Given the description of an element on the screen output the (x, y) to click on. 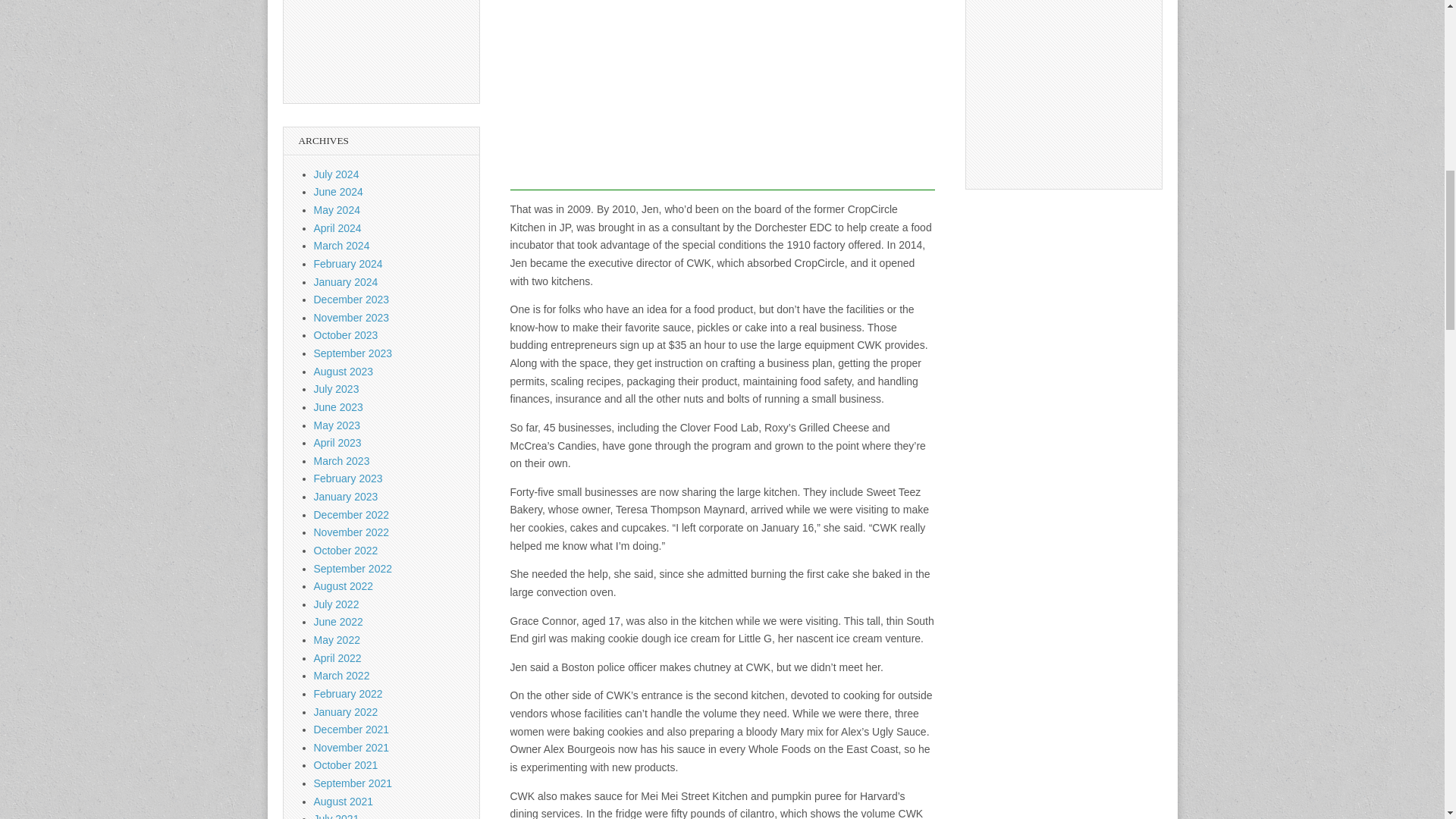
April 2024 (337, 227)
July 2024 (336, 174)
February 2024 (348, 263)
Advertisement (721, 95)
March 2024 (341, 245)
May 2024 (336, 209)
December 2023 (352, 299)
January 2024 (346, 282)
June 2024 (338, 191)
